Given the description of an element on the screen output the (x, y) to click on. 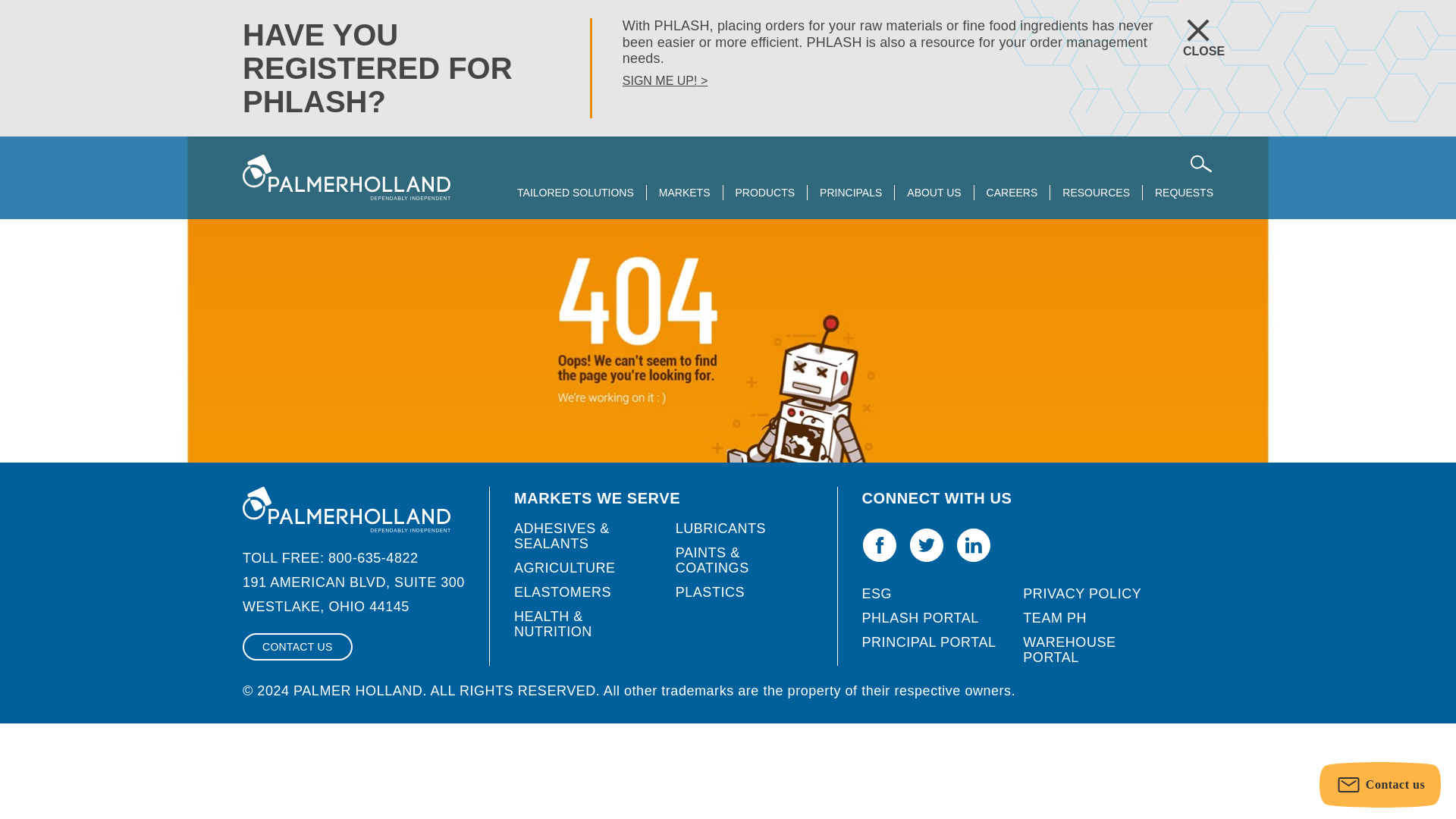
RESOURCES (1095, 193)
MARKETS (684, 193)
CAREERS (1012, 193)
LUBRICANTS (720, 528)
ABOUT US (933, 193)
SIGN ME UP! (665, 80)
PRINCIPAL PORTAL (928, 642)
CONTACT US (297, 646)
PHLASH PORTAL (919, 617)
PLASTICS (709, 591)
PRINCIPALS (850, 193)
TEAM PH (1054, 617)
CLOSE (1185, 30)
800-635-4822 (374, 557)
WAREHOUSE PORTAL (1069, 649)
